Given the description of an element on the screen output the (x, y) to click on. 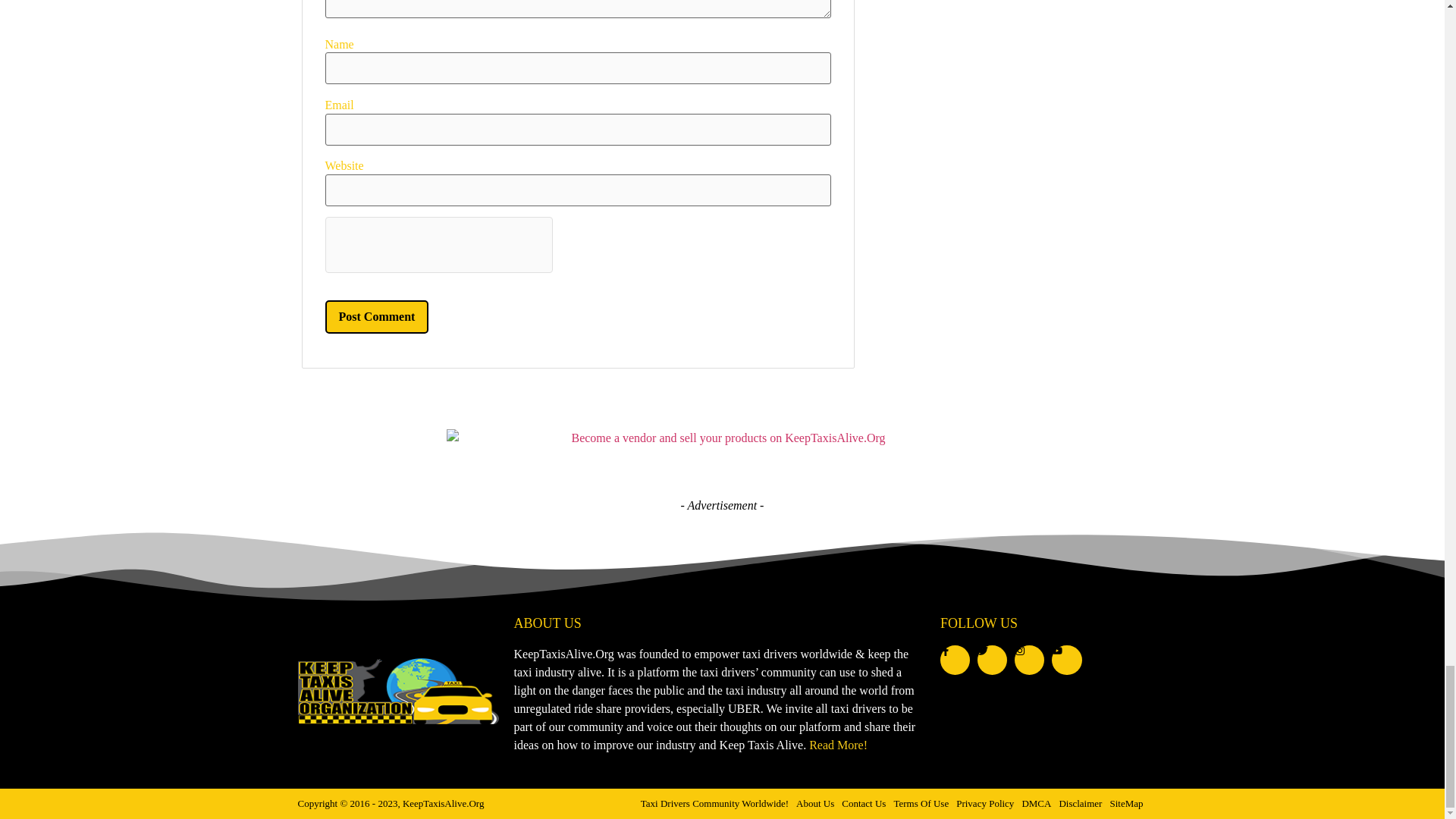
Post Comment (376, 316)
